Given the description of an element on the screen output the (x, y) to click on. 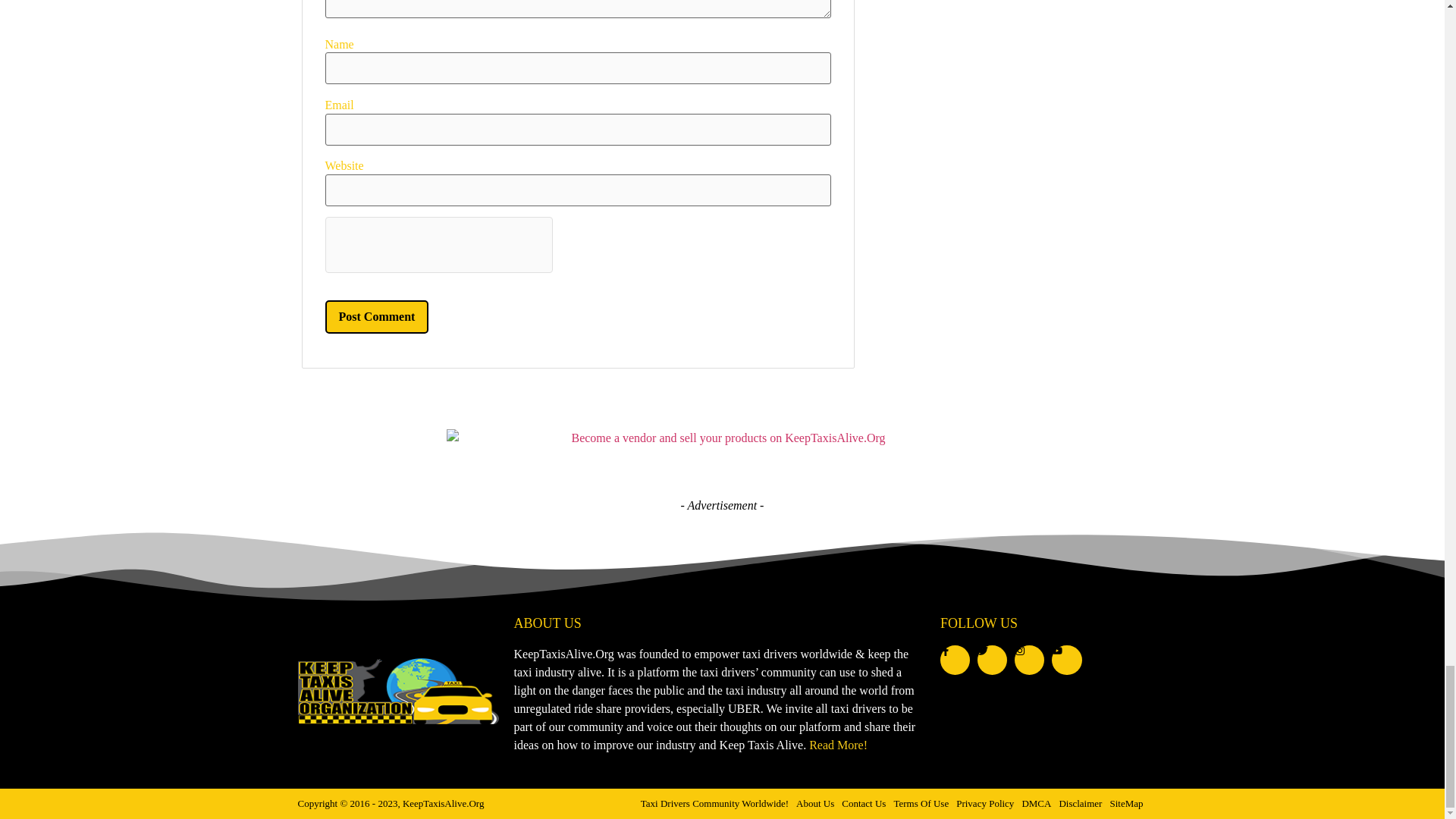
Post Comment (376, 316)
